Given the description of an element on the screen output the (x, y) to click on. 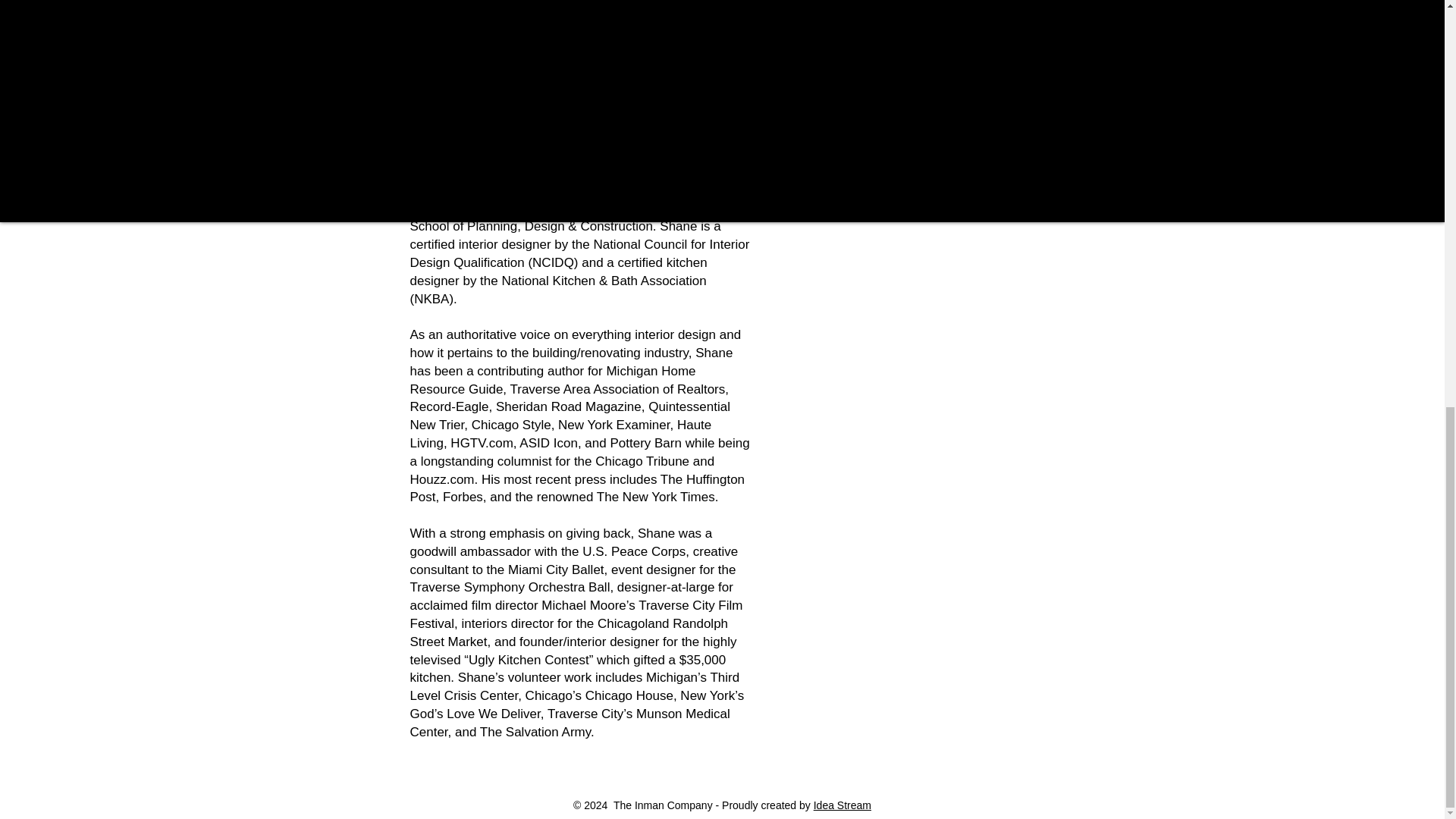
Idea Stream (841, 805)
